Given the description of an element on the screen output the (x, y) to click on. 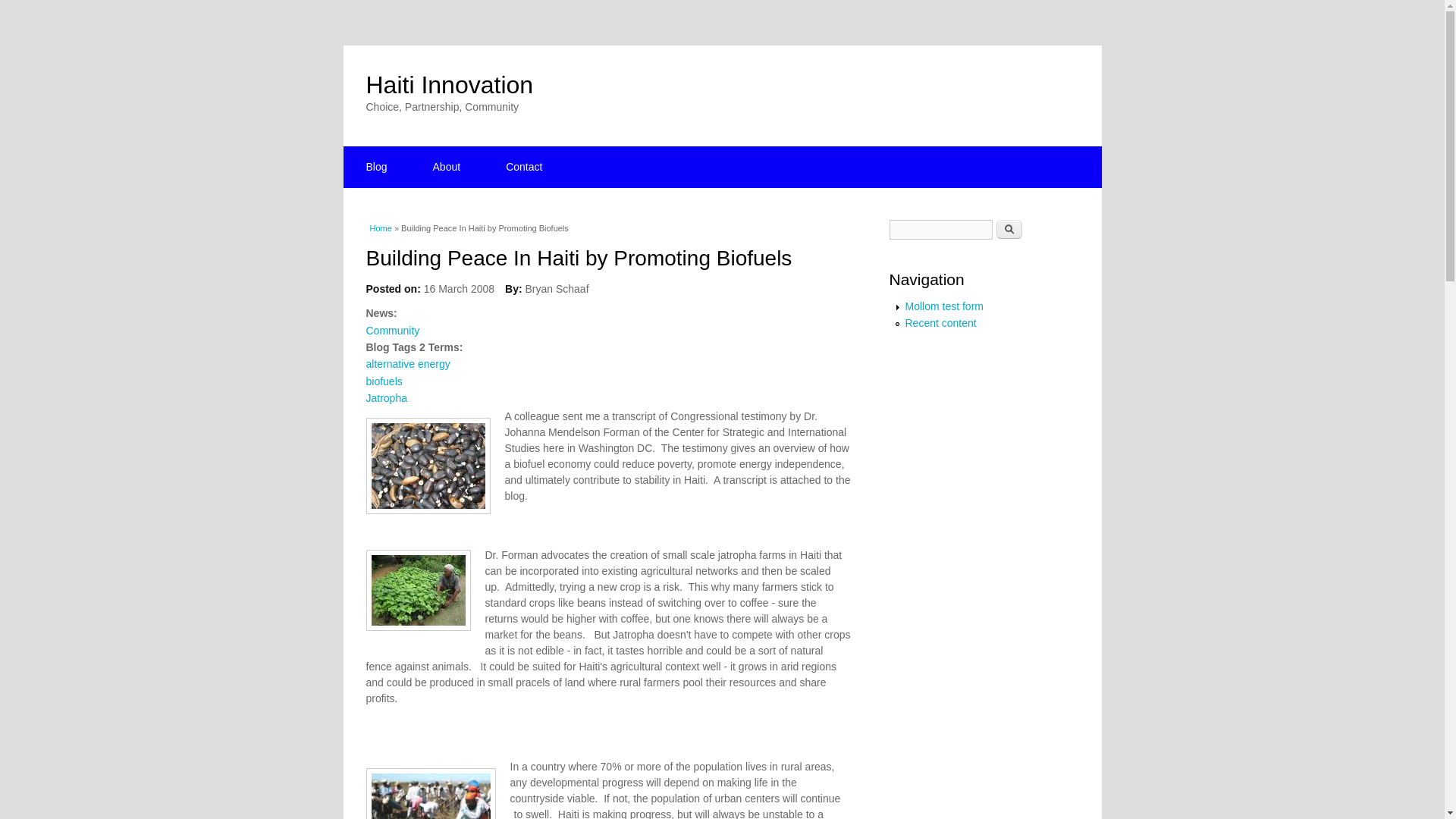
About (446, 167)
Haiti Innovation (448, 84)
Home (448, 84)
biofuels (383, 381)
Home (380, 227)
Jatropha (385, 398)
Search (1008, 229)
About Haiti Innovation (446, 167)
alternative energy (407, 363)
Blog (375, 167)
Contact (523, 167)
Community (392, 330)
